Given the description of an element on the screen output the (x, y) to click on. 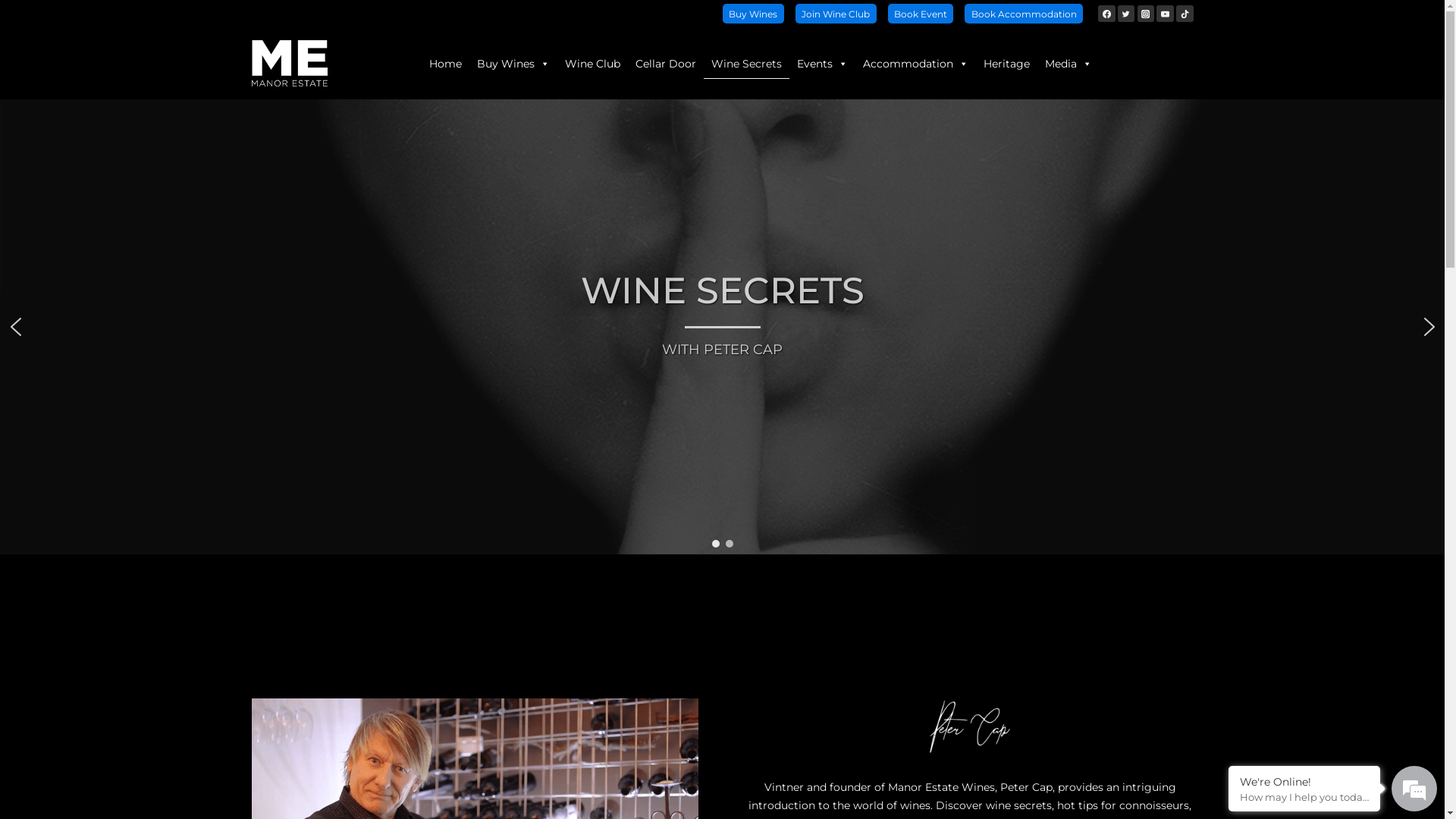
Wine Secrets Element type: text (746, 63)
Book Event Element type: text (920, 13)
Buy Wines Element type: text (753, 13)
Home Element type: text (445, 63)
Heritage Element type: text (1005, 63)
Media Element type: text (1068, 63)
Book Accommodation Element type: text (1023, 13)
Join Wine Club Element type: text (835, 13)
Cellar Door Element type: text (665, 63)
Events Element type: text (821, 63)
Wine Club Element type: text (591, 63)
Accommodation Element type: text (915, 63)
Buy Wines Element type: text (512, 63)
